Given the description of an element on the screen output the (x, y) to click on. 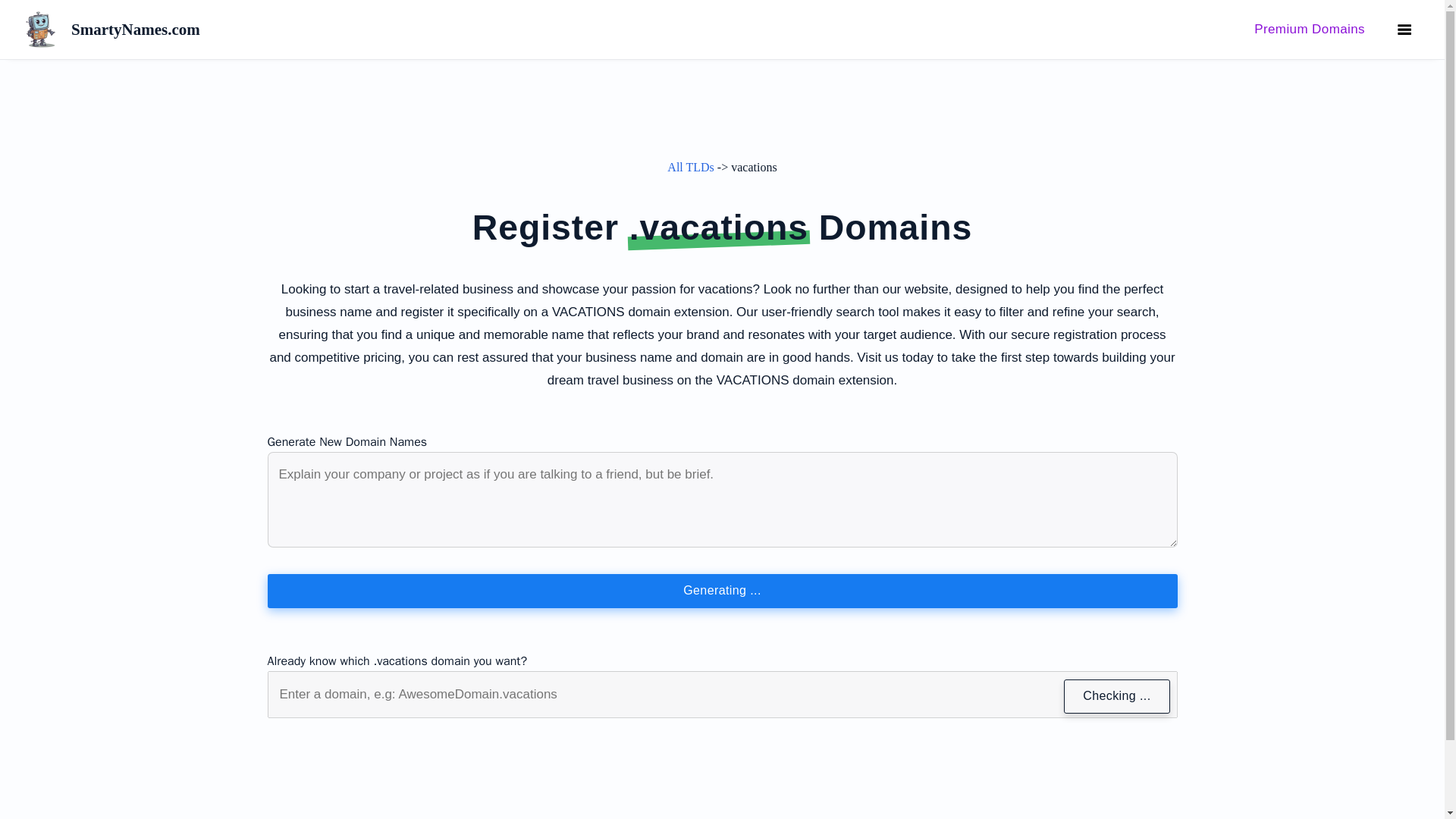
Generating ... (721, 591)
SmartyNames.com (371, 29)
Checking ... (1116, 696)
All TLDs (689, 166)
Premium Domains (1309, 29)
